Given the description of an element on the screen output the (x, y) to click on. 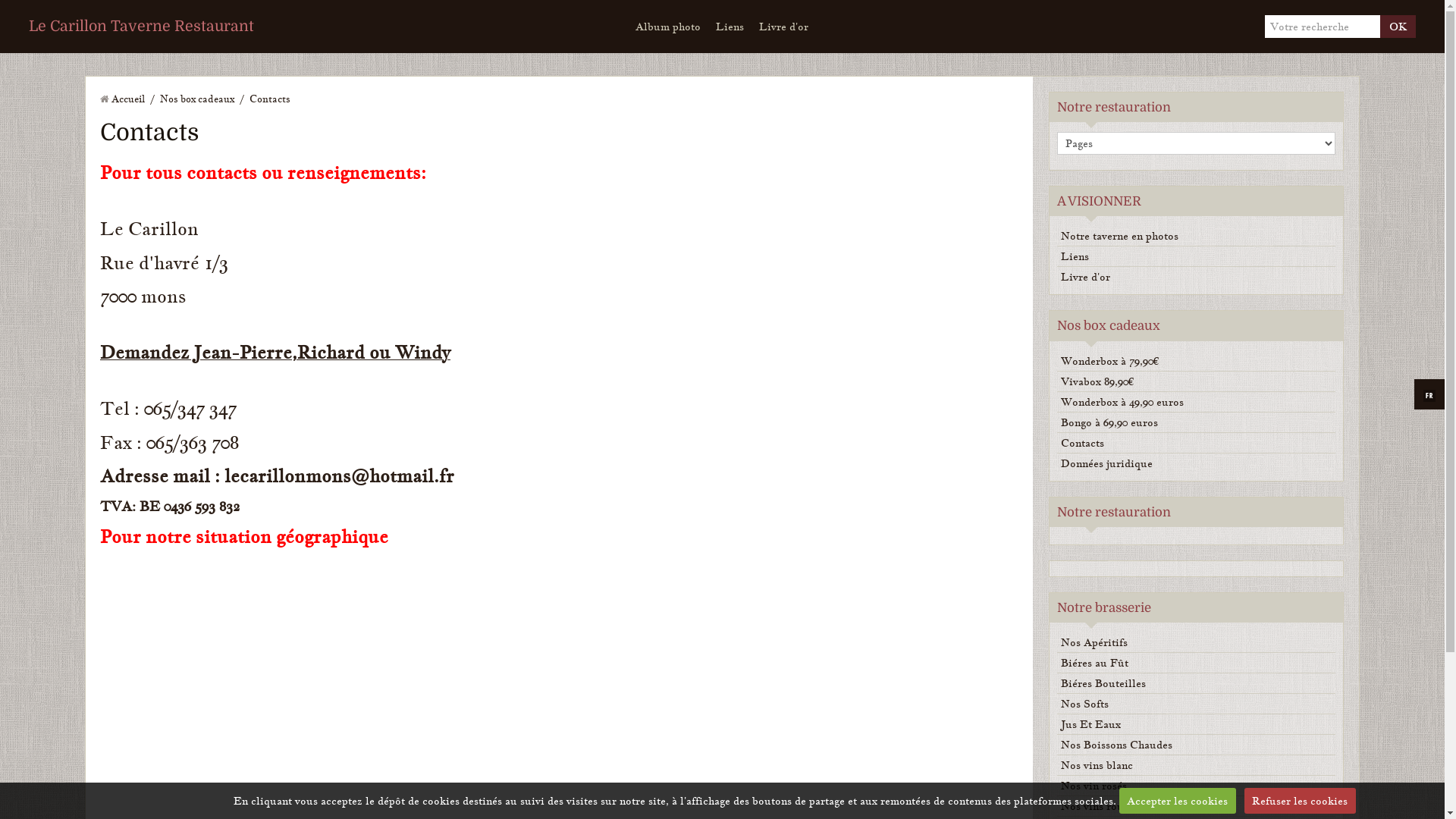
Nos box cadeaux Element type: text (197, 98)
Le Carillon Taverne Restaurant Element type: text (141, 26)
Liens Element type: text (1196, 256)
Contacts Element type: text (1196, 442)
Nos vins rouges Element type: text (1196, 805)
Notre brasserie Element type: text (1104, 607)
Refuser les cookies Element type: text (1299, 800)
Livre d'or Element type: text (1196, 276)
Notre restauration Element type: text (1113, 512)
Accepter les cookies Element type: text (1177, 800)
Nos box cadeaux Element type: text (1108, 325)
OK Element type: text (1397, 26)
Nos vins blanc Element type: text (1196, 765)
Nos Boissons Chaudes Element type: text (1196, 744)
Accueil Element type: text (127, 98)
Notre taverne en photos Element type: text (1196, 235)
Livre d'or Element type: text (783, 26)
Nos Softs Element type: text (1196, 703)
Jus Et Eaux Element type: text (1196, 724)
Notre restauration Element type: text (1113, 107)
Album photo Element type: text (667, 26)
Liens Element type: text (729, 26)
